Given the description of an element on the screen output the (x, y) to click on. 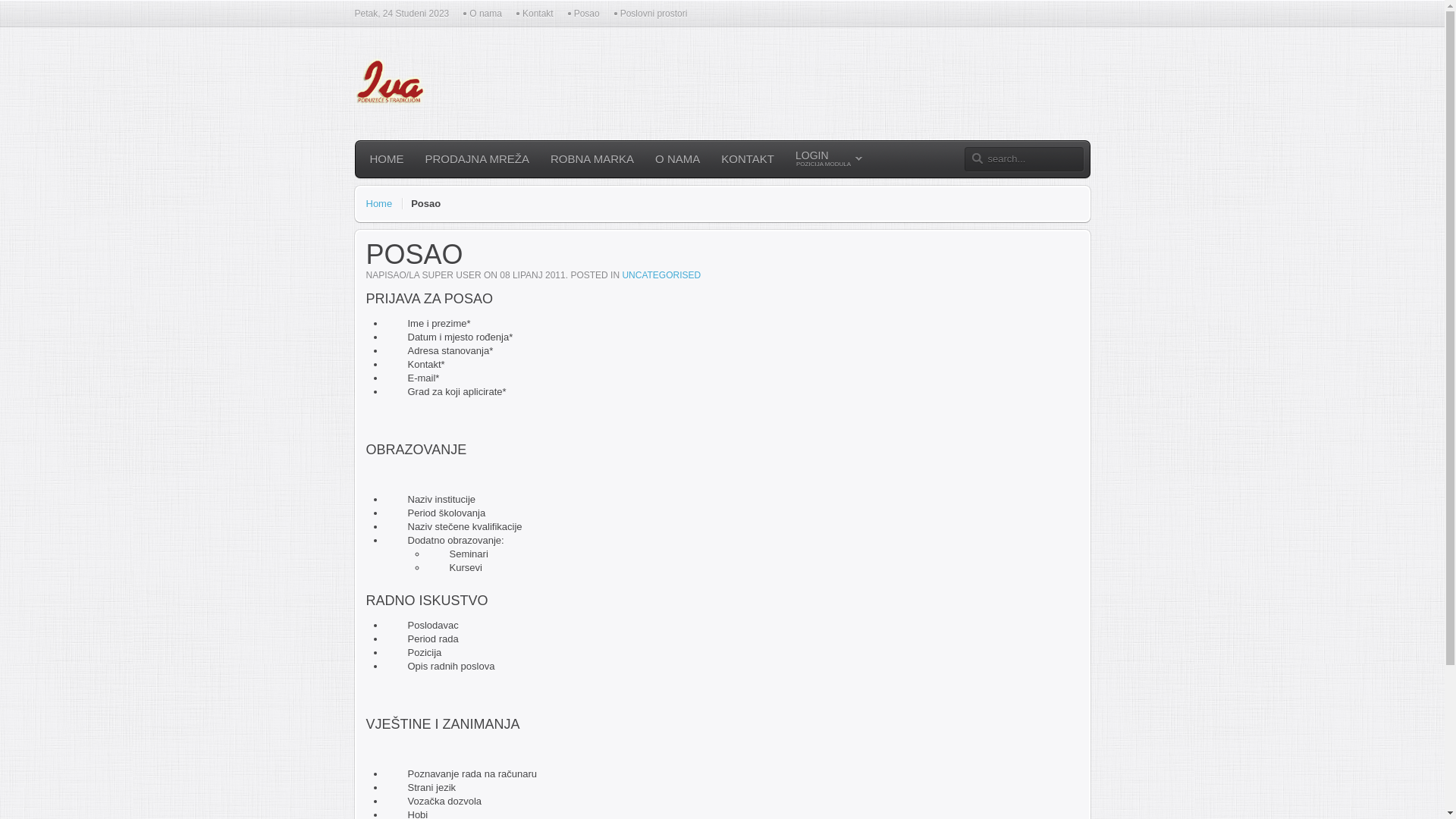
Kontakt Element type: text (533, 13)
Reset Element type: text (3, 3)
Poslovni prostori Element type: text (649, 13)
ROBNA MARKA Element type: text (592, 159)
HOME Element type: text (385, 159)
Posao Element type: text (581, 13)
Home Element type: text (384, 203)
O NAMA Element type: text (677, 159)
O nama Element type: text (481, 13)
UNCATEGORISED Element type: text (660, 274)
KONTAKT Element type: text (747, 159)
